Given the description of an element on the screen output the (x, y) to click on. 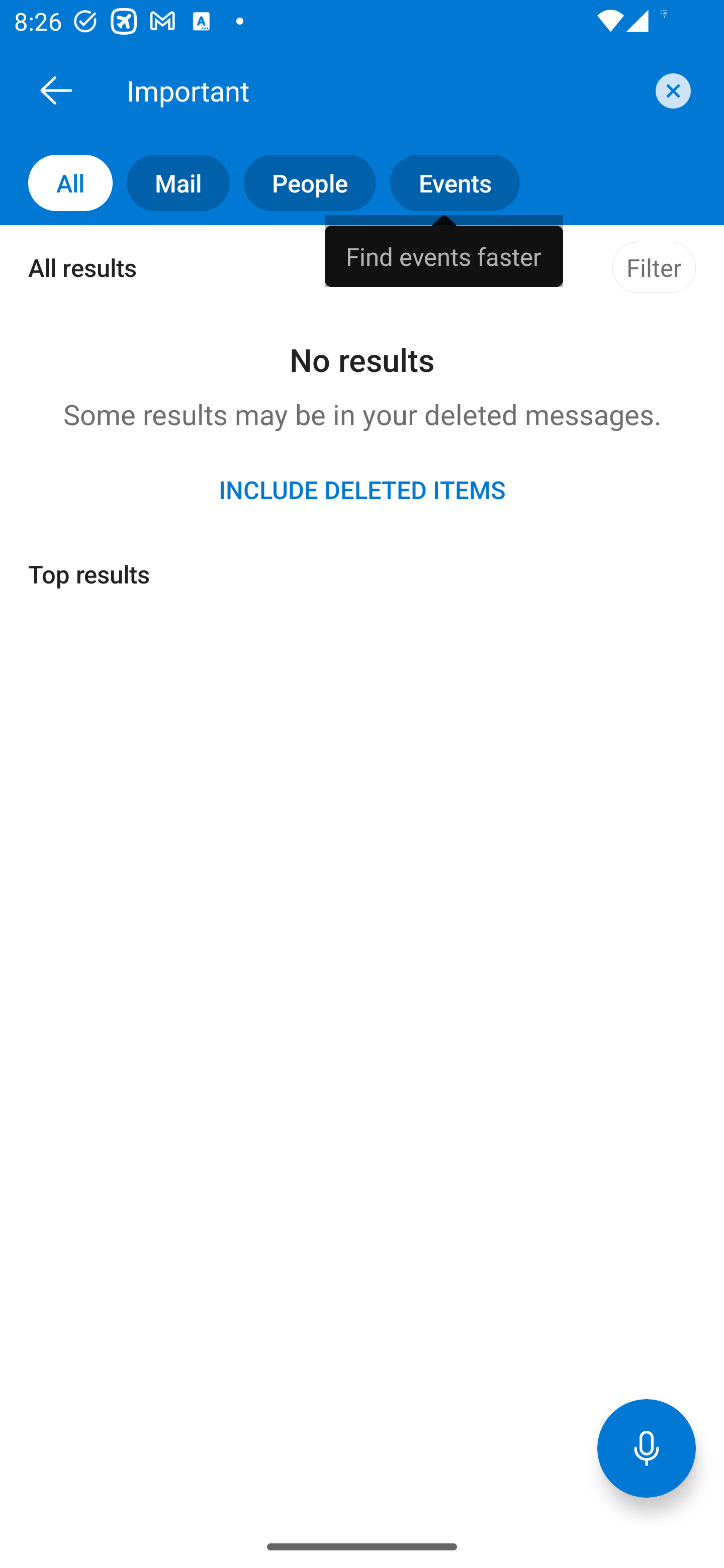
Find events faster (444, 250)
